Given the description of an element on the screen output the (x, y) to click on. 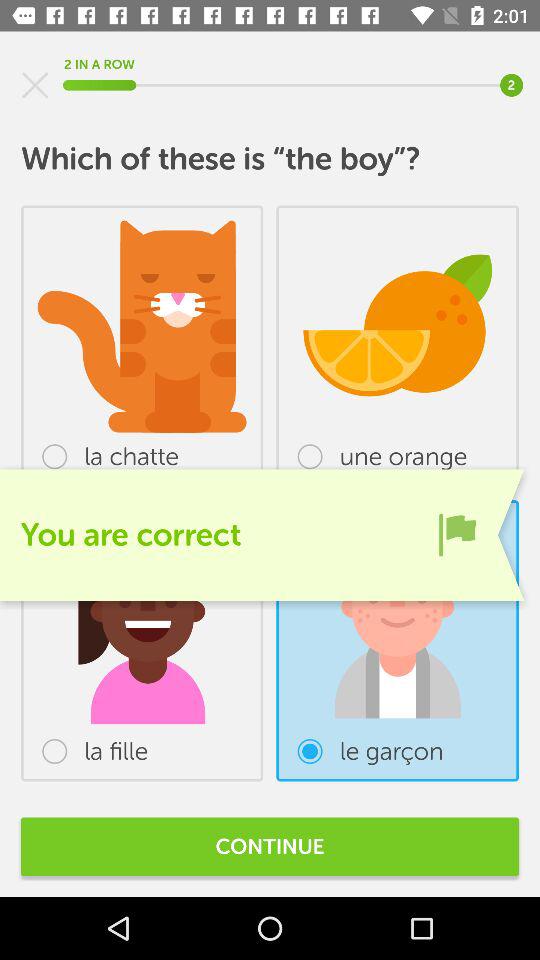
flag (457, 534)
